Given the description of an element on the screen output the (x, y) to click on. 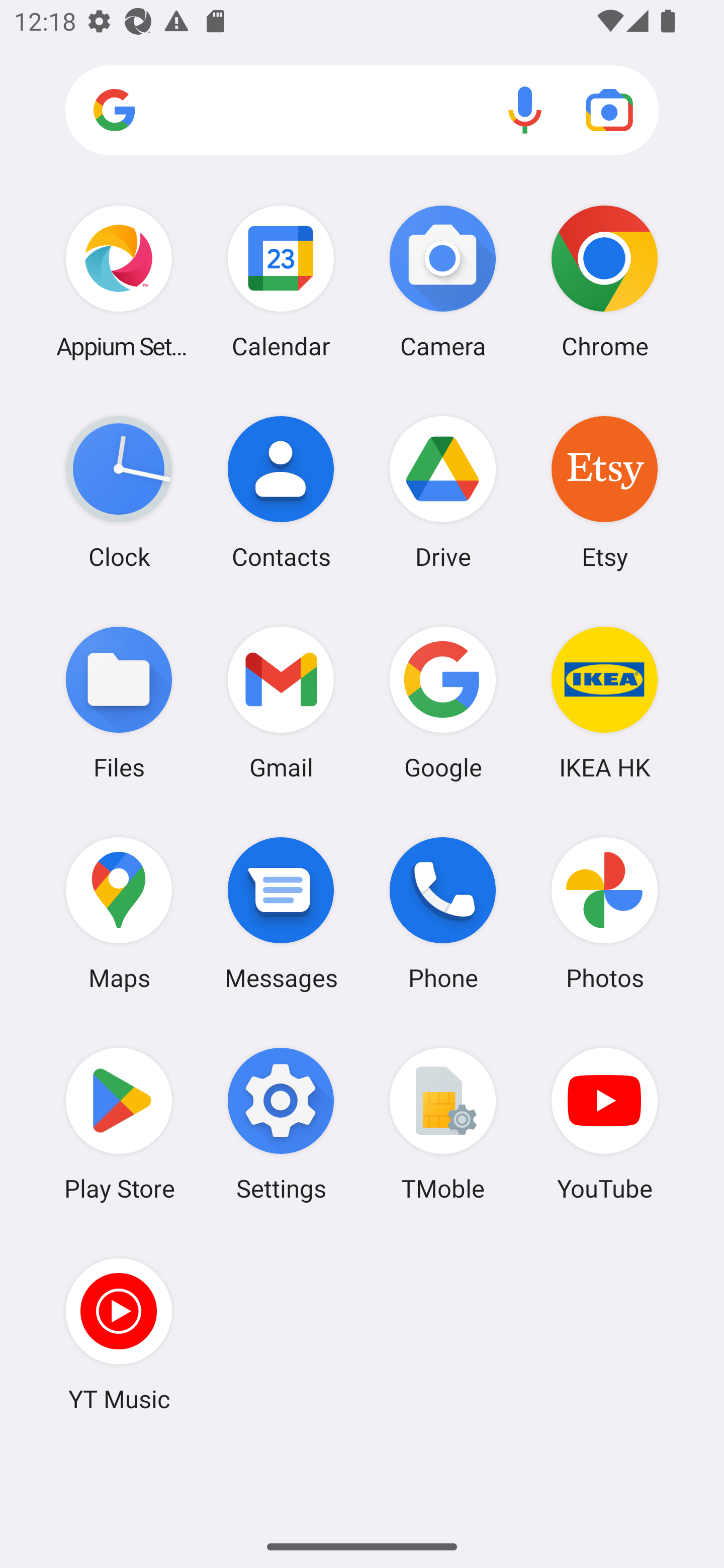
Search apps, web and more (361, 110)
Voice search (524, 109)
Google Lens (608, 109)
Appium Settings (118, 281)
Calendar (280, 281)
Camera (443, 281)
Chrome (604, 281)
Clock (118, 492)
Contacts (280, 492)
Drive (443, 492)
Etsy (604, 492)
Files (118, 702)
Gmail (280, 702)
Google (443, 702)
IKEA HK (604, 702)
Maps (118, 913)
Messages (280, 913)
Phone (443, 913)
Photos (604, 913)
Play Store (118, 1124)
Settings (280, 1124)
TMoble (443, 1124)
YouTube (604, 1124)
YT Music (118, 1334)
